Given the description of an element on the screen output the (x, y) to click on. 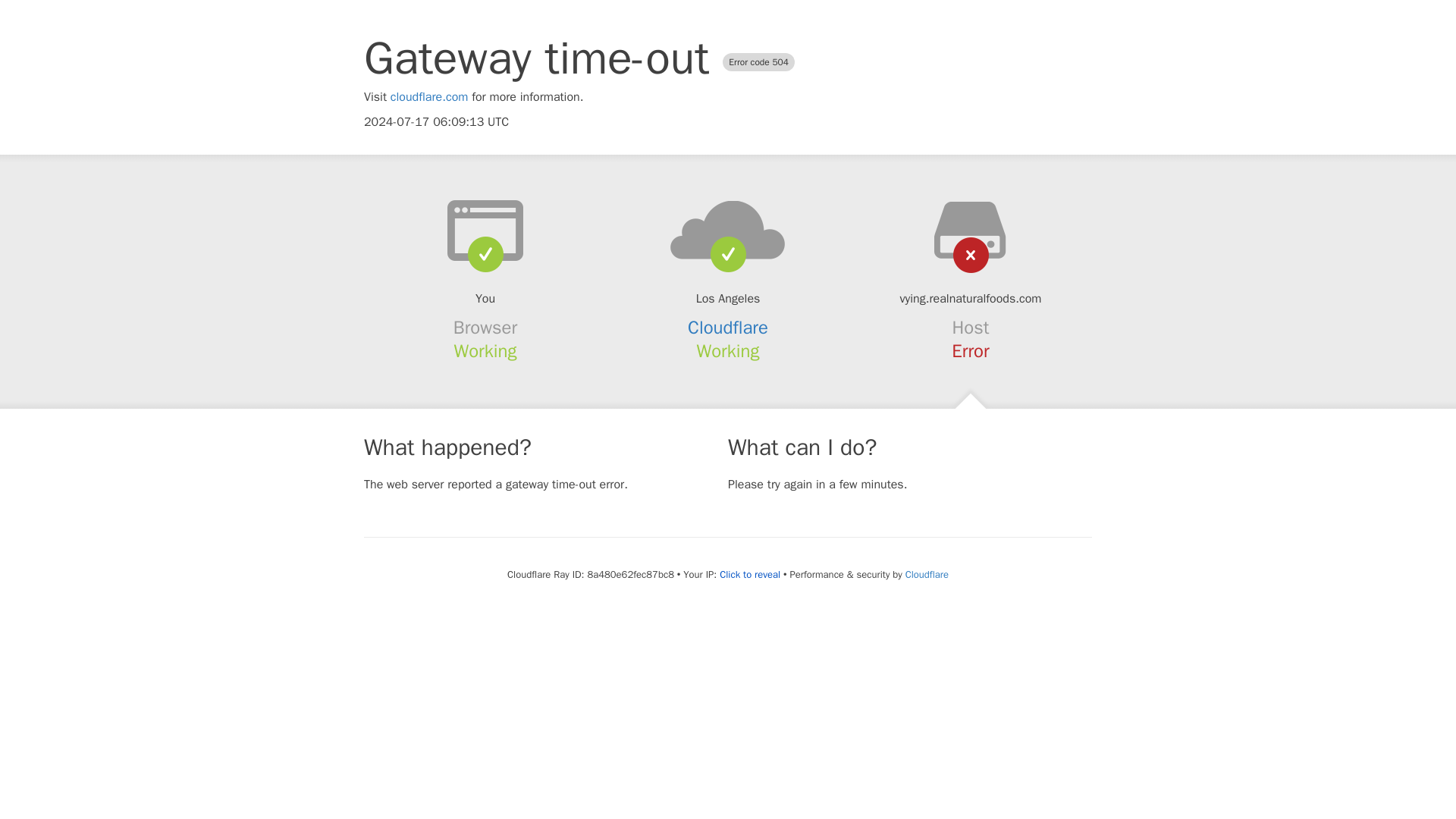
cloudflare.com (429, 96)
Cloudflare (927, 574)
Click to reveal (749, 574)
Cloudflare (727, 327)
